Given the description of an element on the screen output the (x, y) to click on. 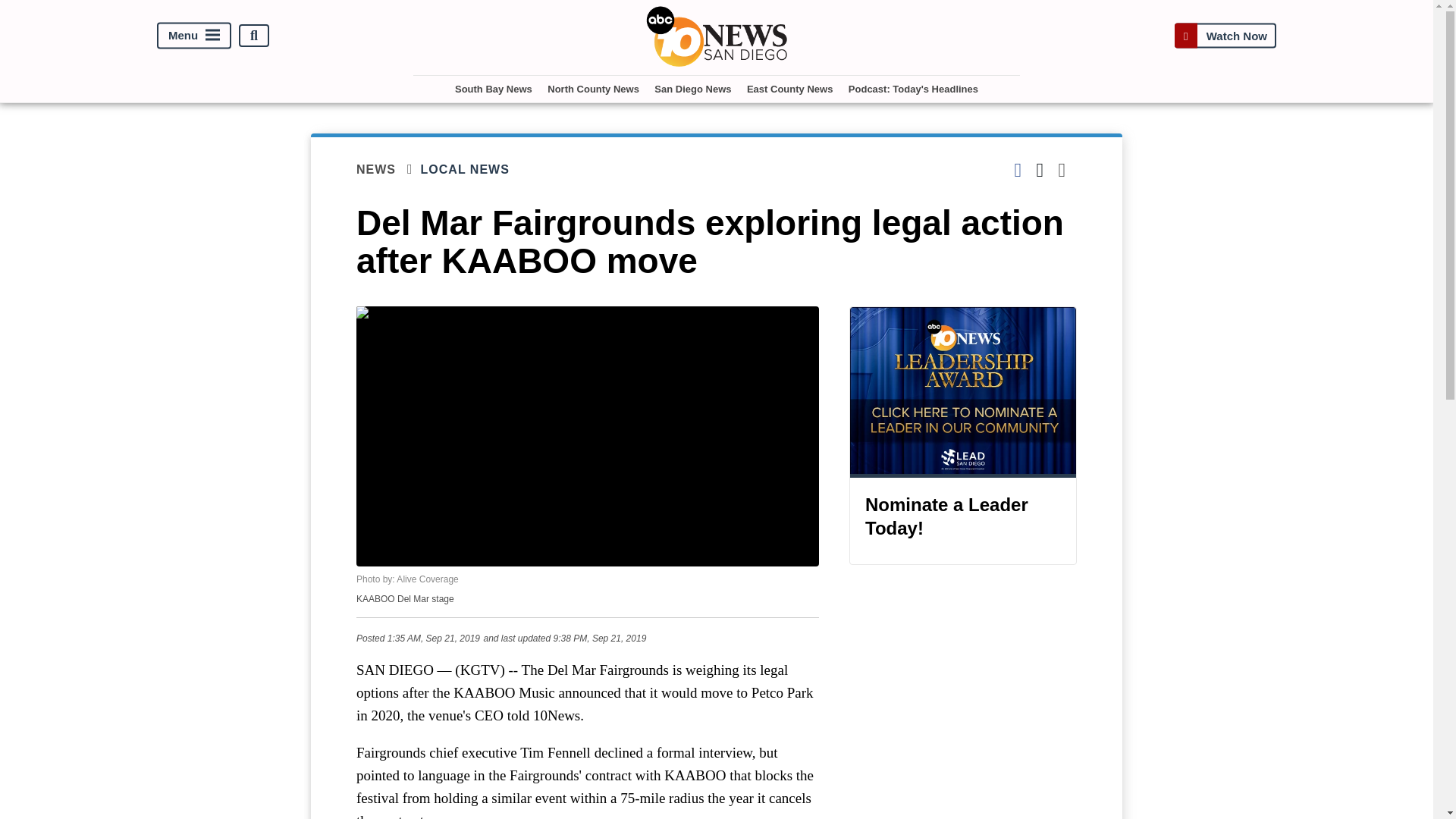
Watch Now (1224, 35)
Menu (194, 35)
